Given the description of an element on the screen output the (x, y) to click on. 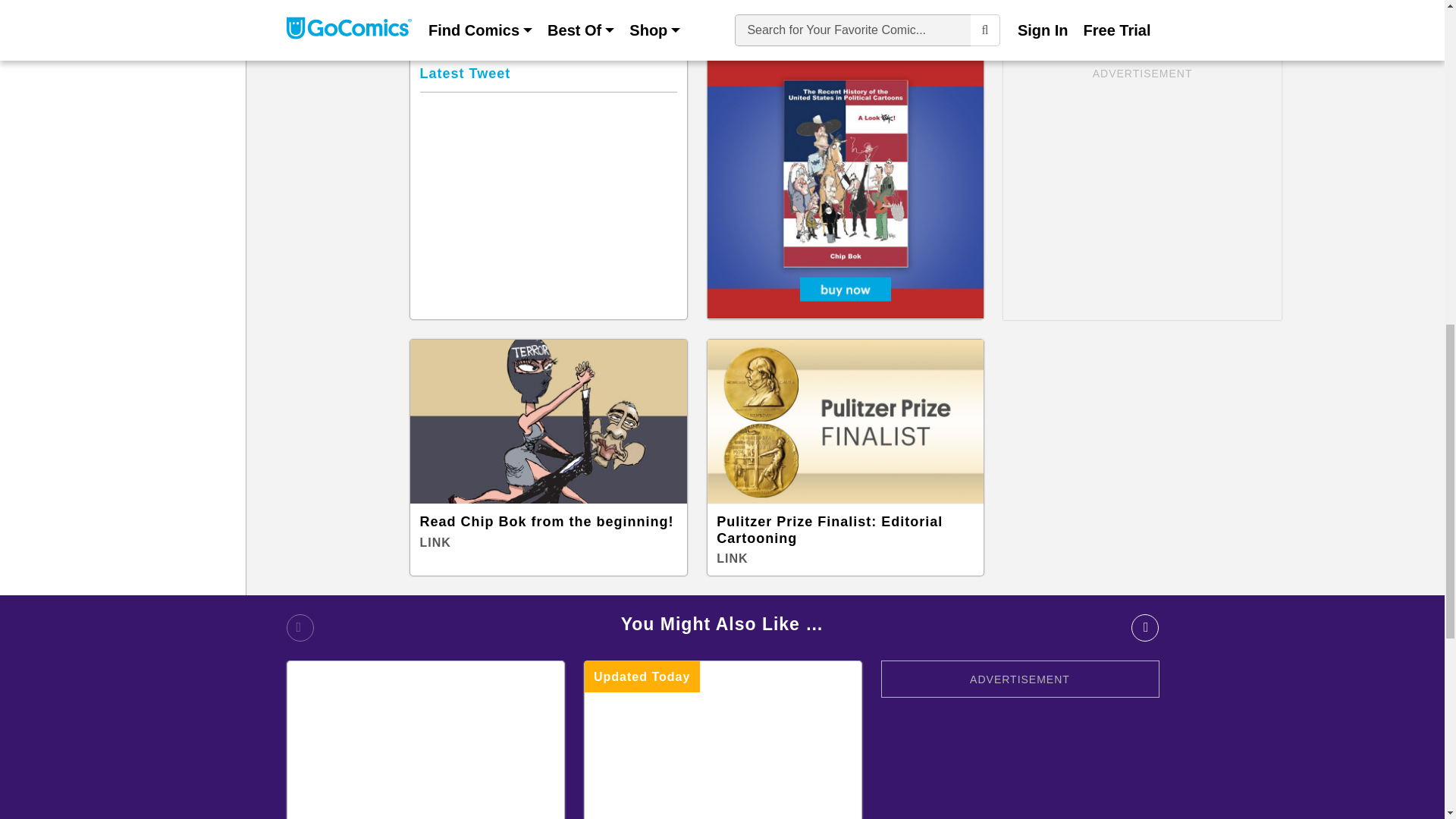
Random (917, 7)
